Given the description of an element on the screen output the (x, y) to click on. 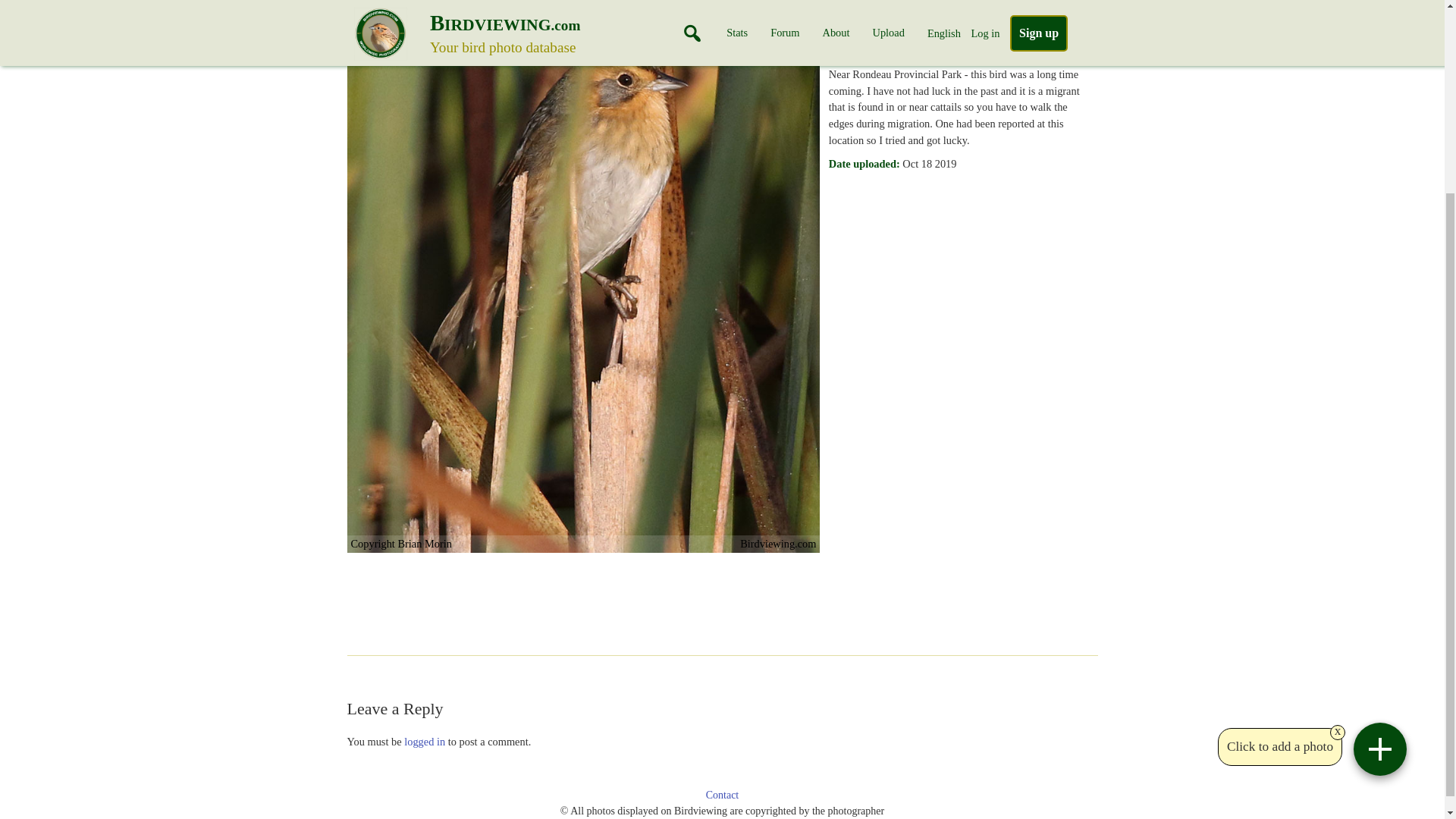
Contact (722, 794)
logged in (424, 741)
